Given the description of an element on the screen output the (x, y) to click on. 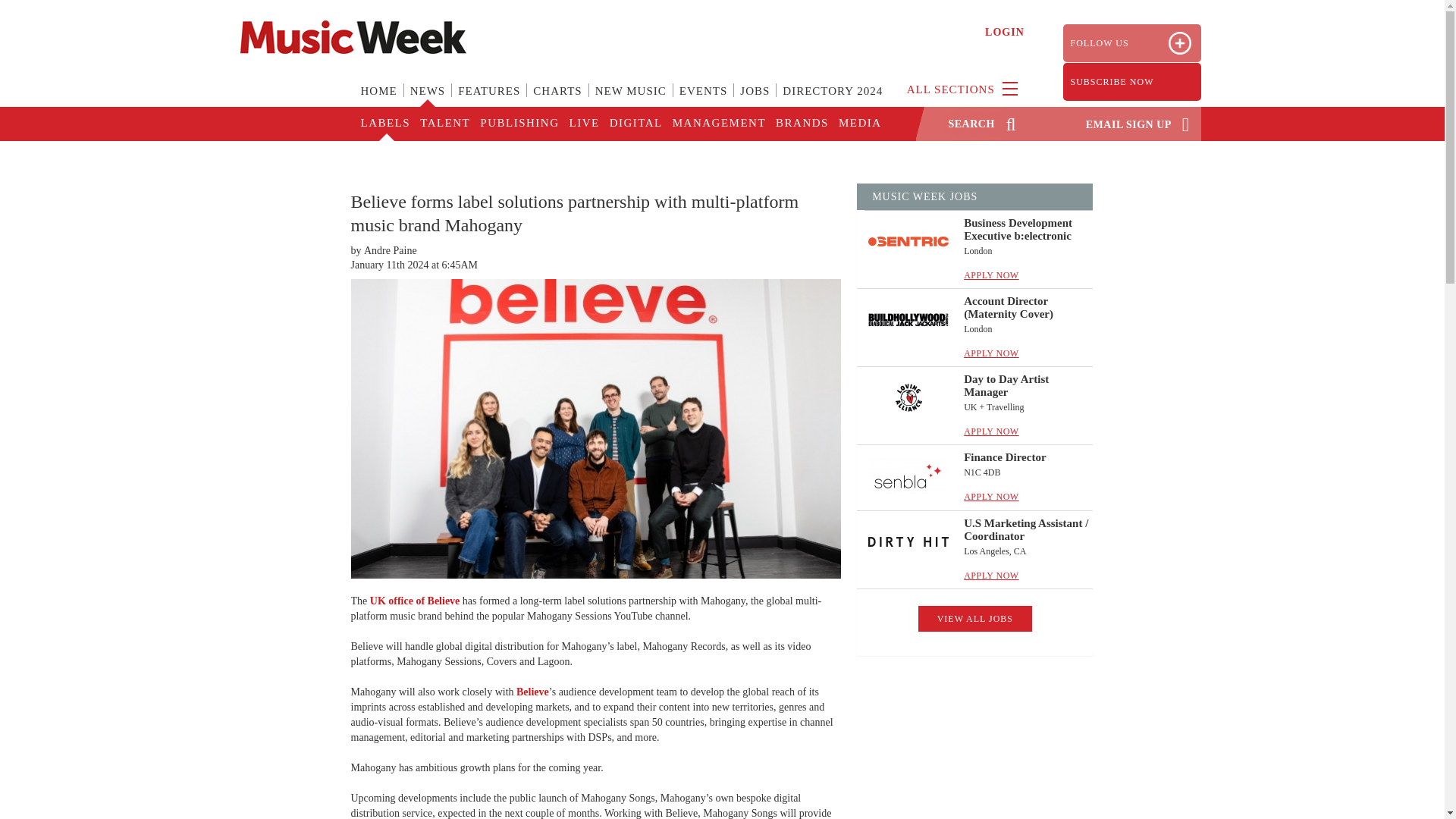
LABELS (384, 123)
NEWS (427, 100)
BRANDS (801, 123)
LOGIN (1005, 31)
HOME (379, 100)
DIGITAL (635, 123)
NEW MUSIC (630, 100)
PUBLISHING (518, 123)
MEDIA (858, 123)
MANAGEMENT (718, 123)
FEATURES (488, 100)
LIVE (582, 123)
EVENTS (702, 100)
TALENT (443, 123)
CHARTS (557, 100)
